Given the description of an element on the screen output the (x, y) to click on. 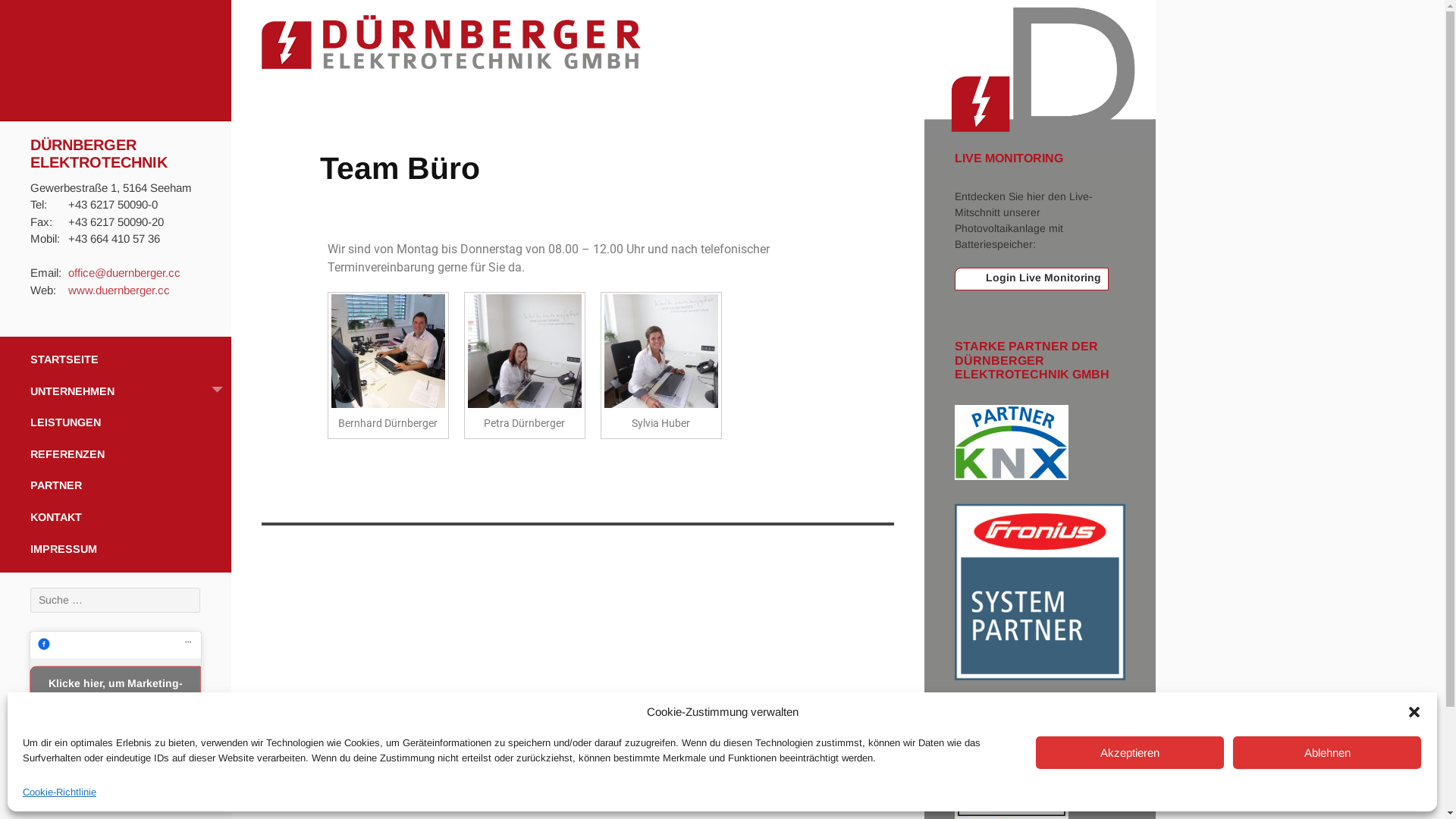
Cookie-Richtlinie Element type: text (59, 792)
KONTAKT Element type: text (115, 517)
PARTNER Element type: text (115, 486)
Akzeptieren Element type: text (1129, 752)
Login Live Monitoring  Element type: text (1031, 278)
www.duernberger.cc Element type: text (118, 289)
office@duernberger.cc Element type: text (124, 272)
Suche Element type: text (34, 11)
UNTERNEHMEN Element type: text (115, 391)
IMPRESSUM Element type: text (115, 553)
REFERENZEN Element type: text (115, 454)
Ablehnen Element type: text (1326, 752)
LEISTUNGEN Element type: text (115, 423)
STARTSEITE Element type: text (115, 356)
